Given the description of an element on the screen output the (x, y) to click on. 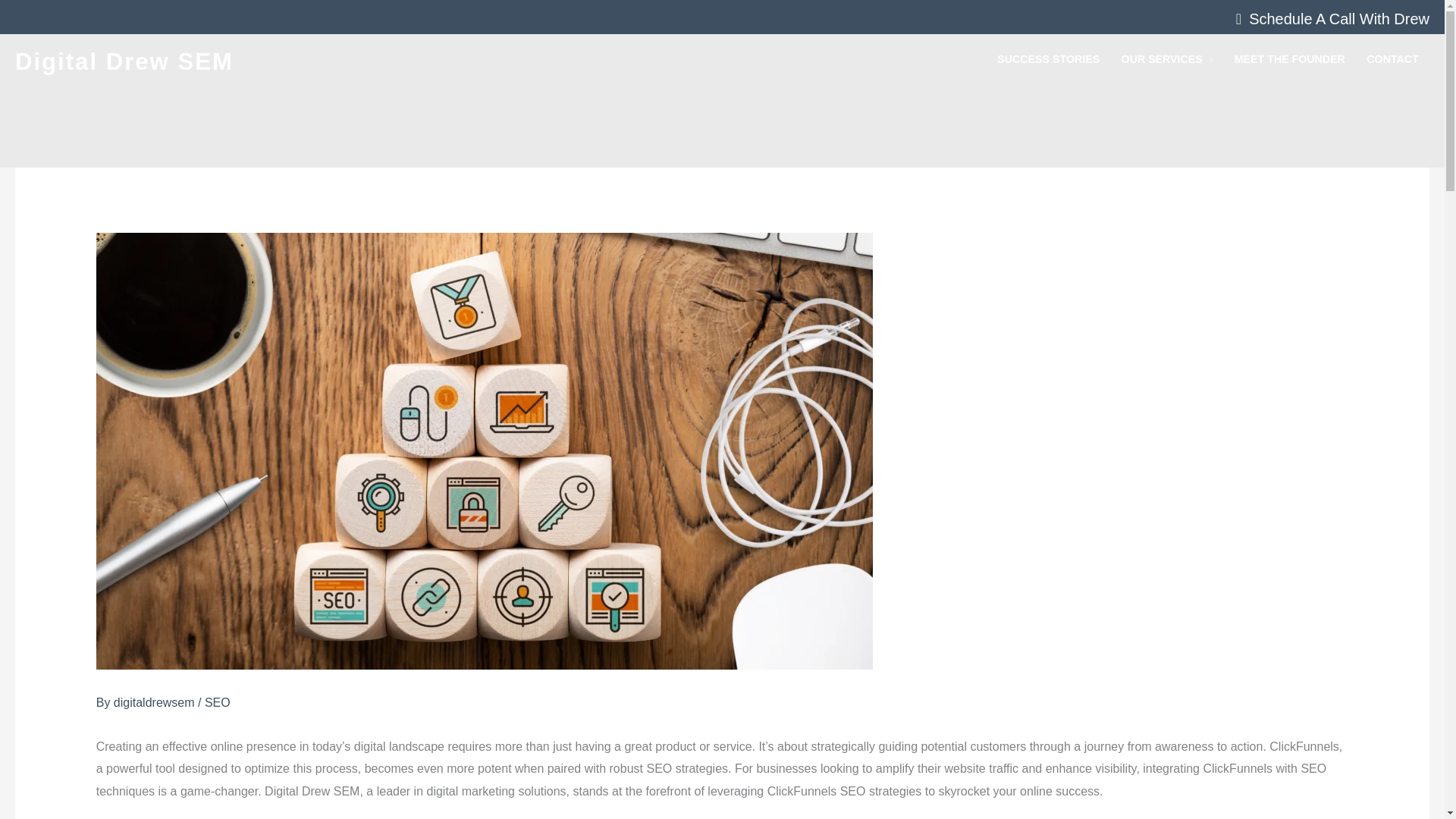
digitaldrewsem (155, 702)
OUR SERVICES (1166, 59)
Digital Drew SEM (123, 61)
SUCCESS STORIES (1048, 59)
Schedule A Call With Drew (1328, 19)
CONTACT (1392, 59)
MEET THE FOUNDER (1290, 59)
SEO (217, 702)
View all posts by digitaldrewsem (155, 702)
